Given the description of an element on the screen output the (x, y) to click on. 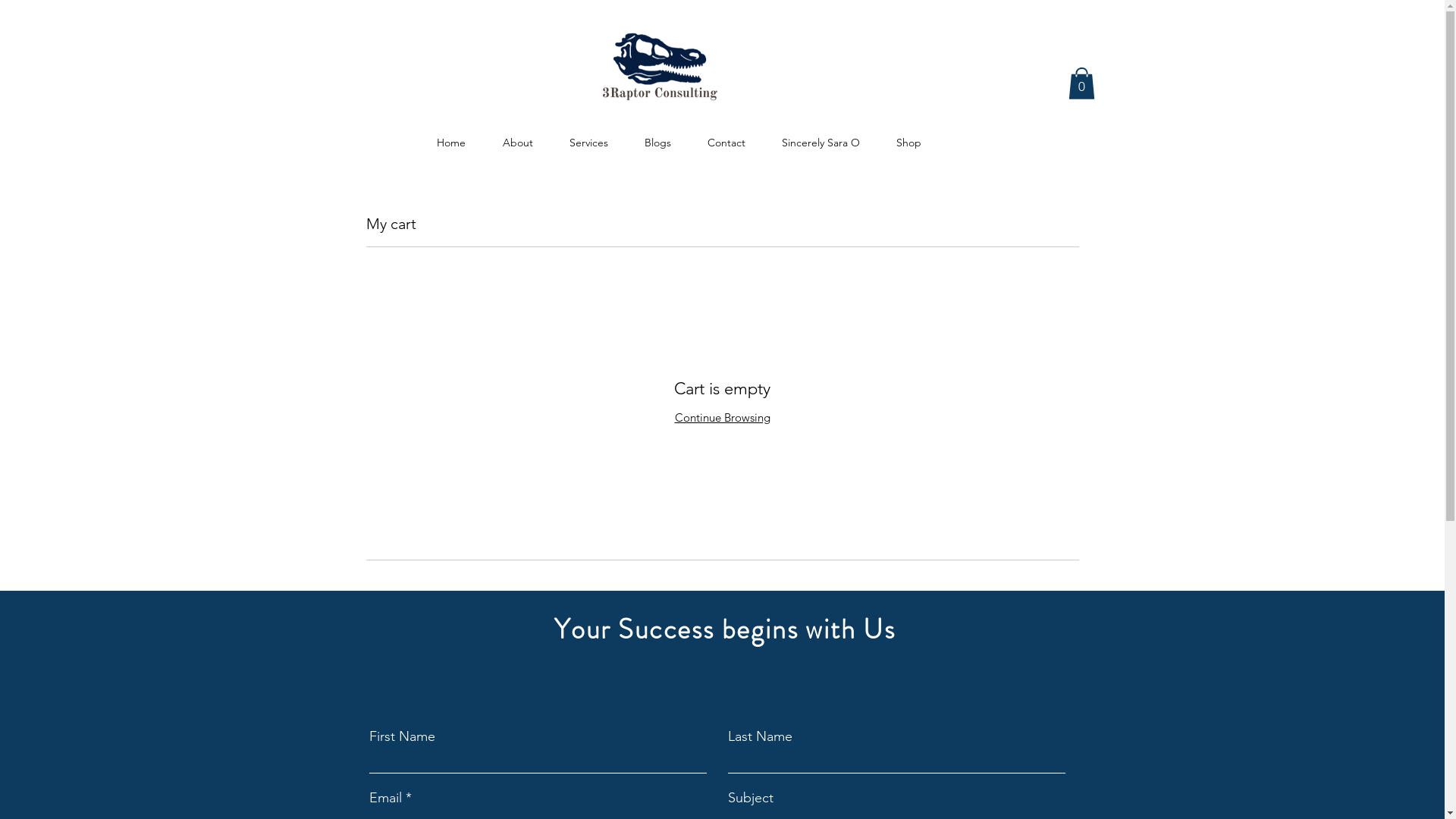
0 Element type: text (1080, 83)
Services Element type: text (588, 135)
Sincerely Sara O Element type: text (820, 135)
Blogs Element type: text (657, 135)
About Element type: text (517, 135)
3Raptor Logo Final Color.png Element type: hover (659, 69)
Home Element type: text (450, 135)
Continue Browsing Element type: text (722, 417)
Contact Element type: text (726, 135)
Shop Element type: text (908, 135)
